Given the description of an element on the screen output the (x, y) to click on. 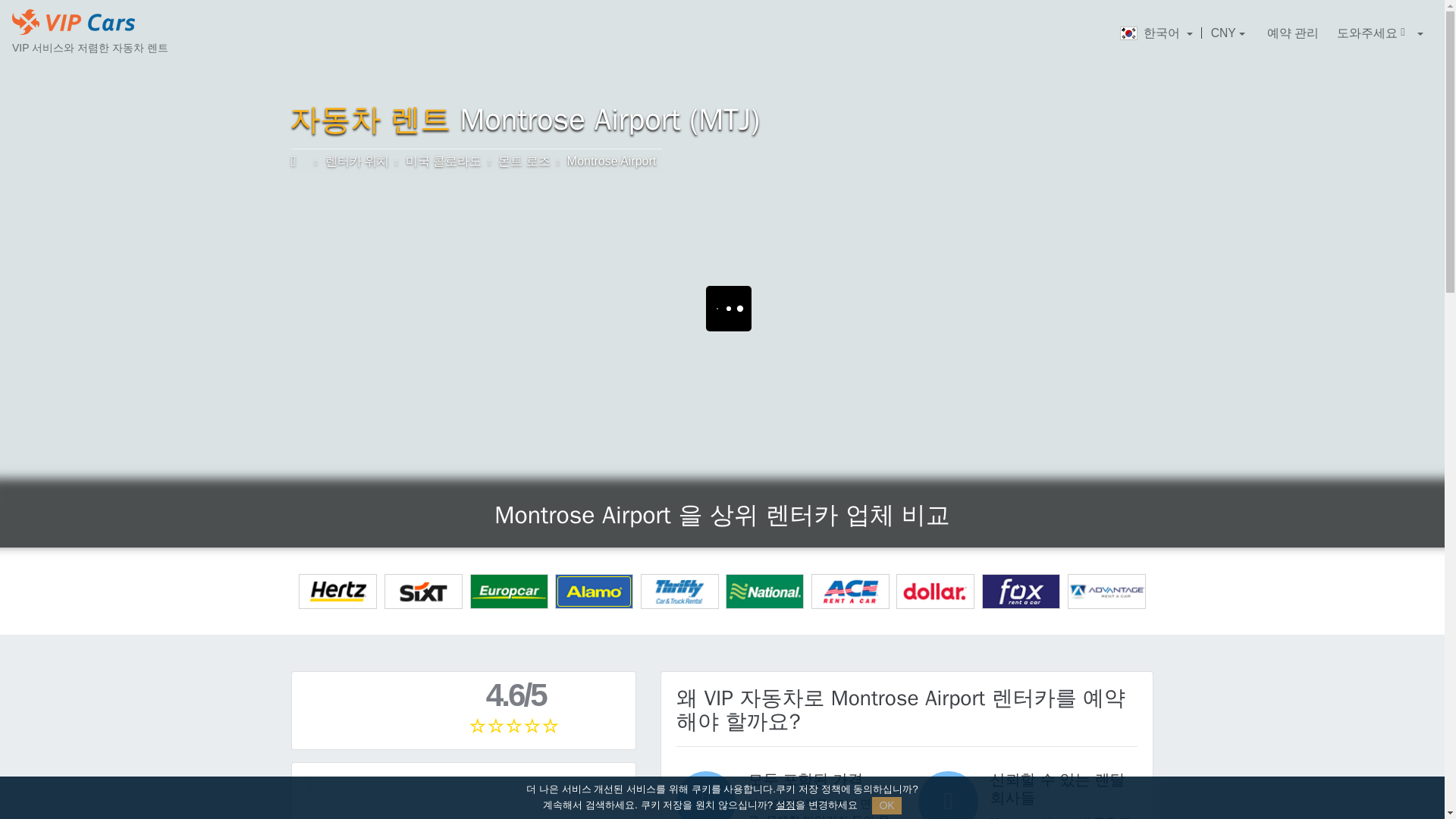
EuropCar (509, 591)
Alamo (593, 591)
Sixt (423, 591)
Dollar (935, 591)
Hertz (337, 591)
CNY (1228, 33)
Ace (849, 591)
VIP Cars (73, 22)
Customer reviews powered by Trustpilot (464, 798)
Thrifty (679, 591)
